Given the description of an element on the screen output the (x, y) to click on. 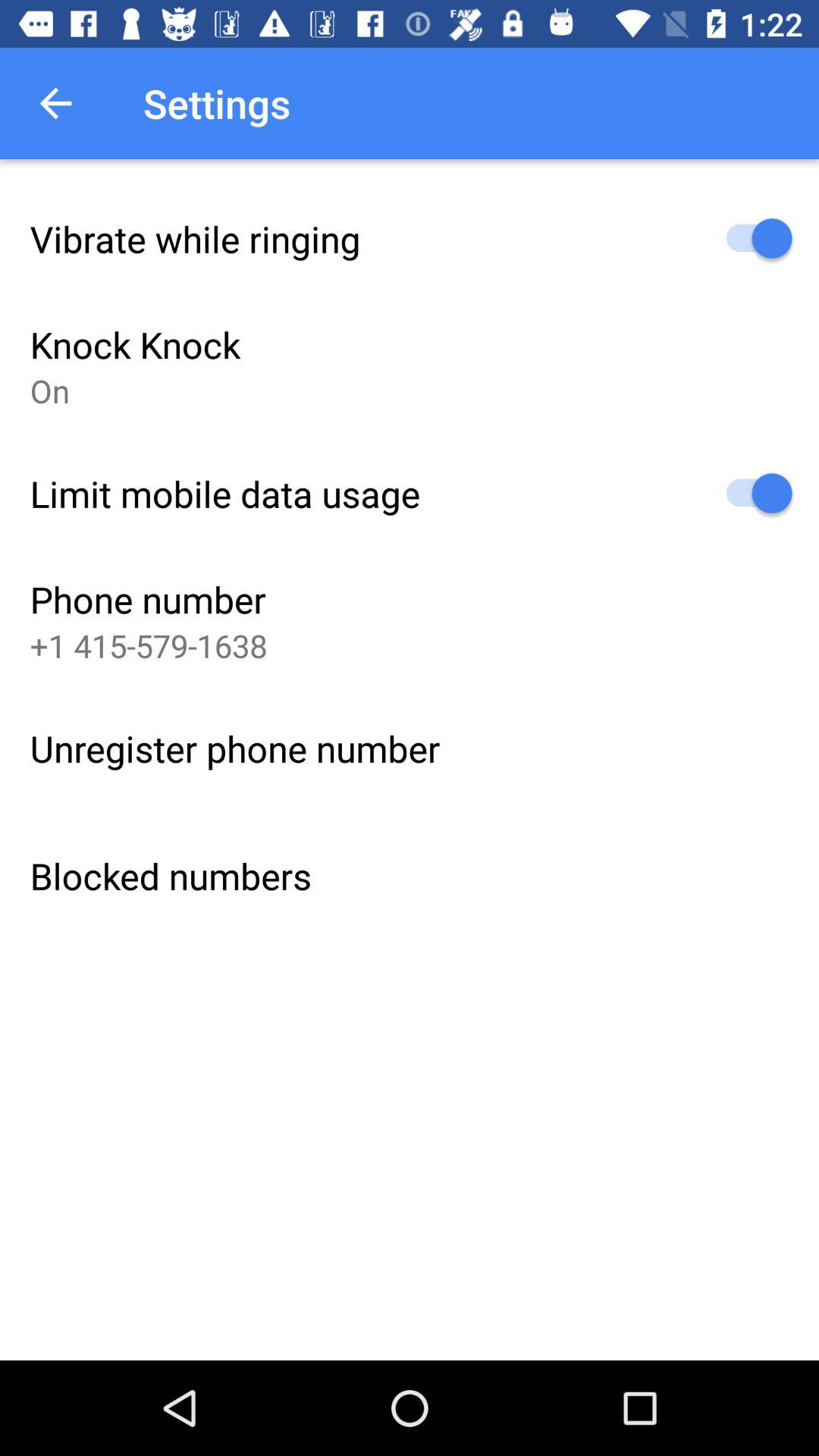
open the blocked numbers item (170, 875)
